Given the description of an element on the screen output the (x, y) to click on. 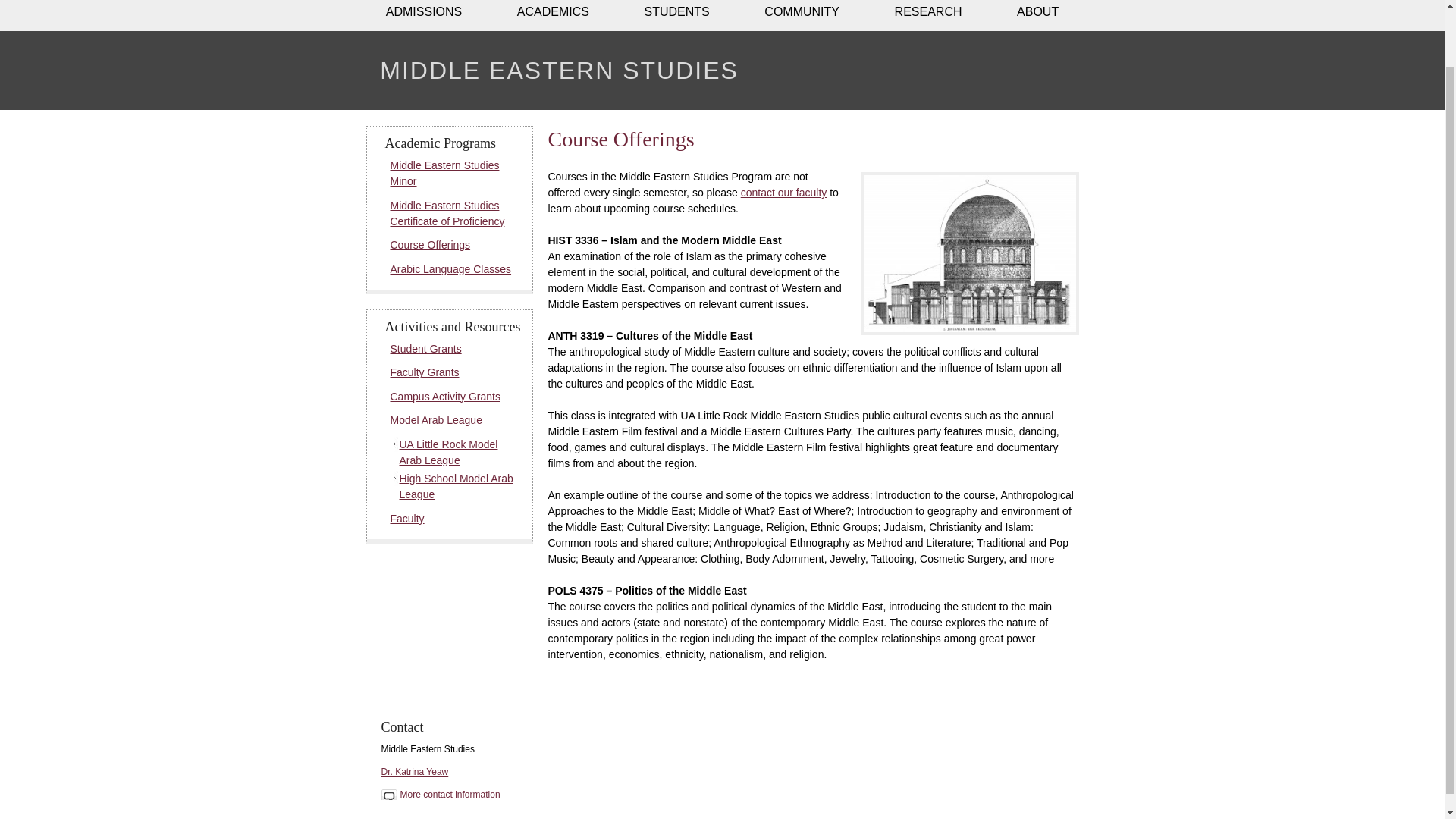
ADMISSIONS (423, 15)
ACADEMICS (553, 15)
